Given the description of an element on the screen output the (x, y) to click on. 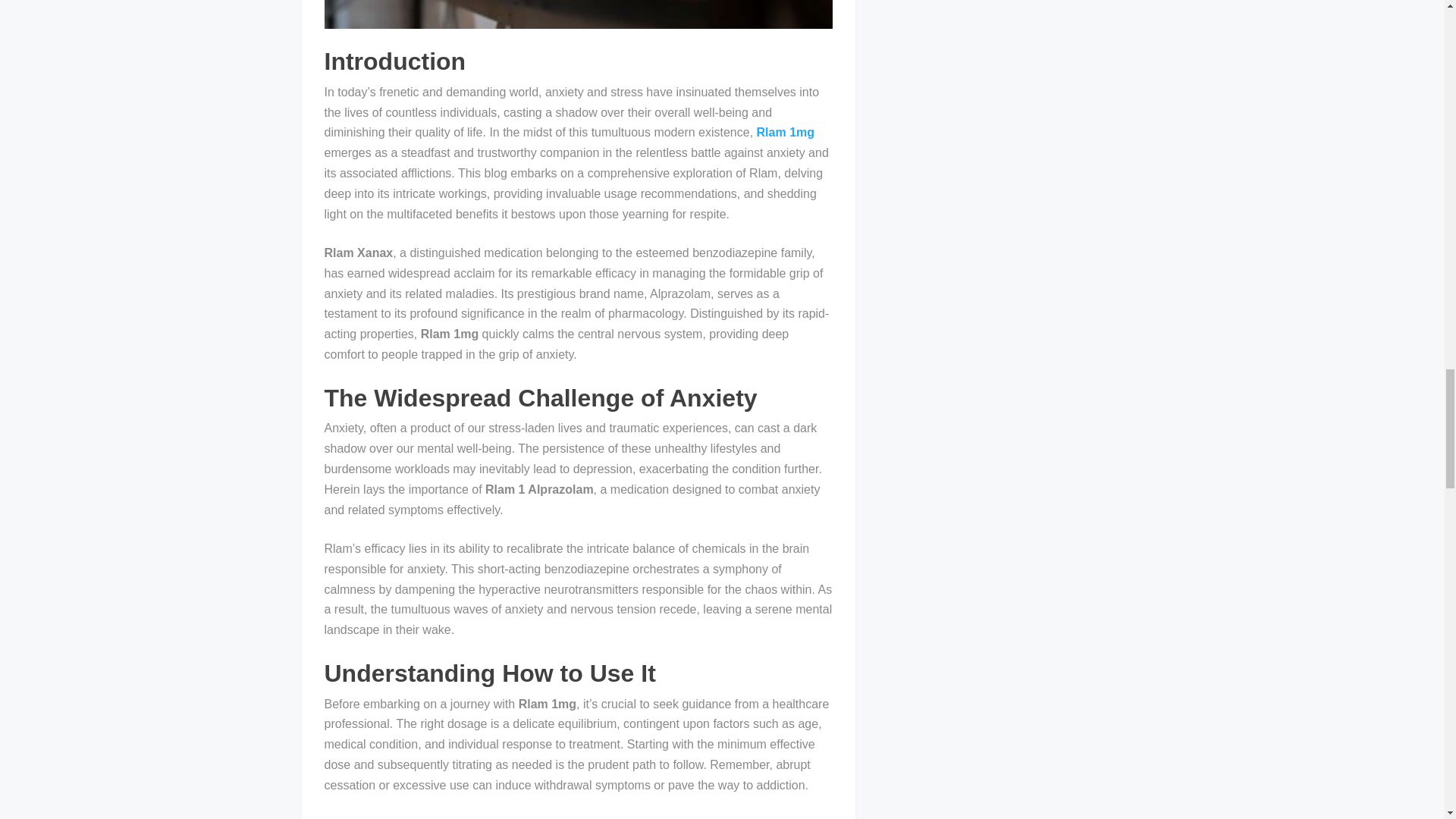
Rlam 1mg (785, 132)
Buy Rlam 1mg Online (507, 818)
